Given the description of an element on the screen output the (x, y) to click on. 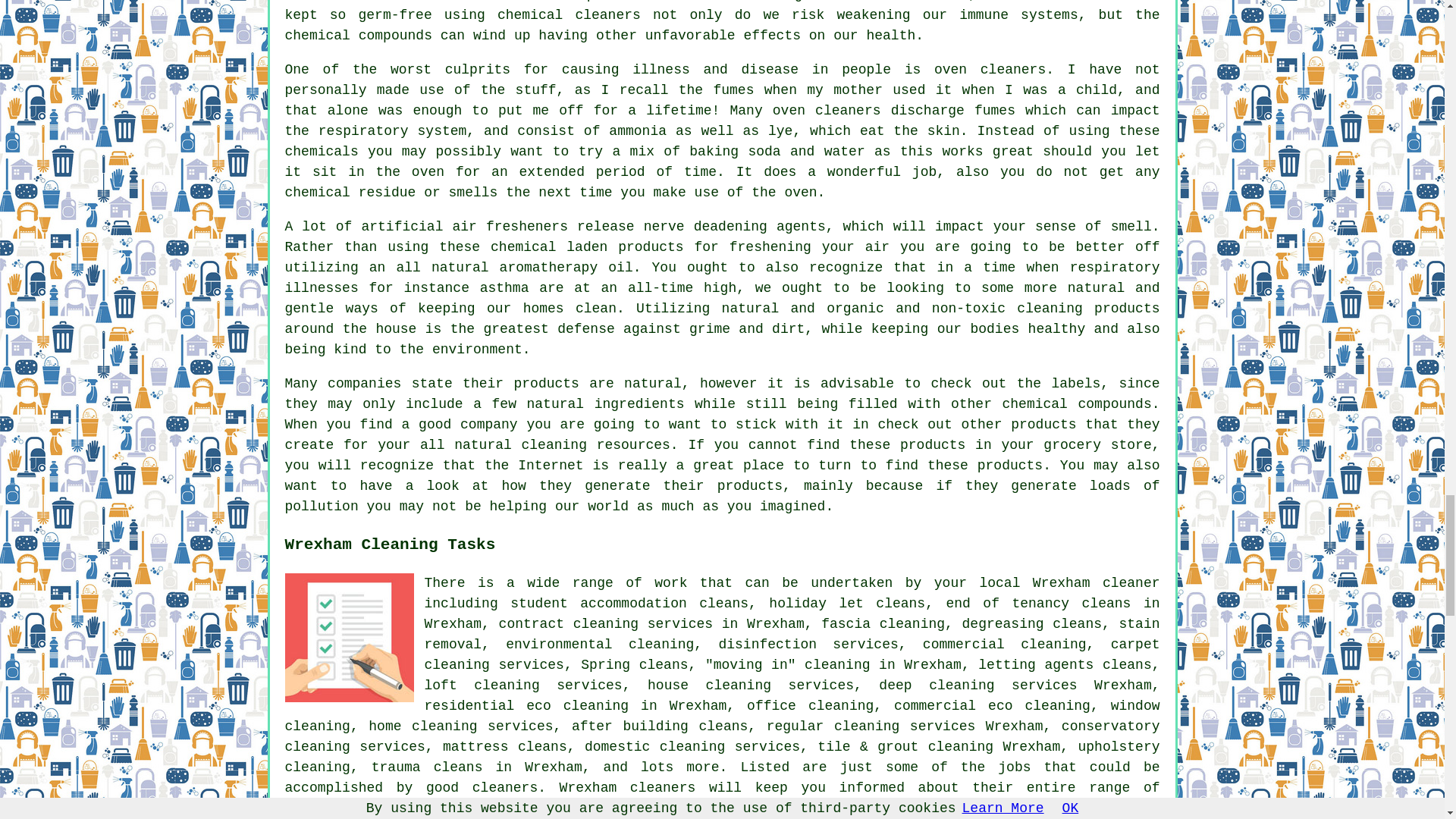
Wrexham Cleaning Tasks (349, 637)
